Given the description of an element on the screen output the (x, y) to click on. 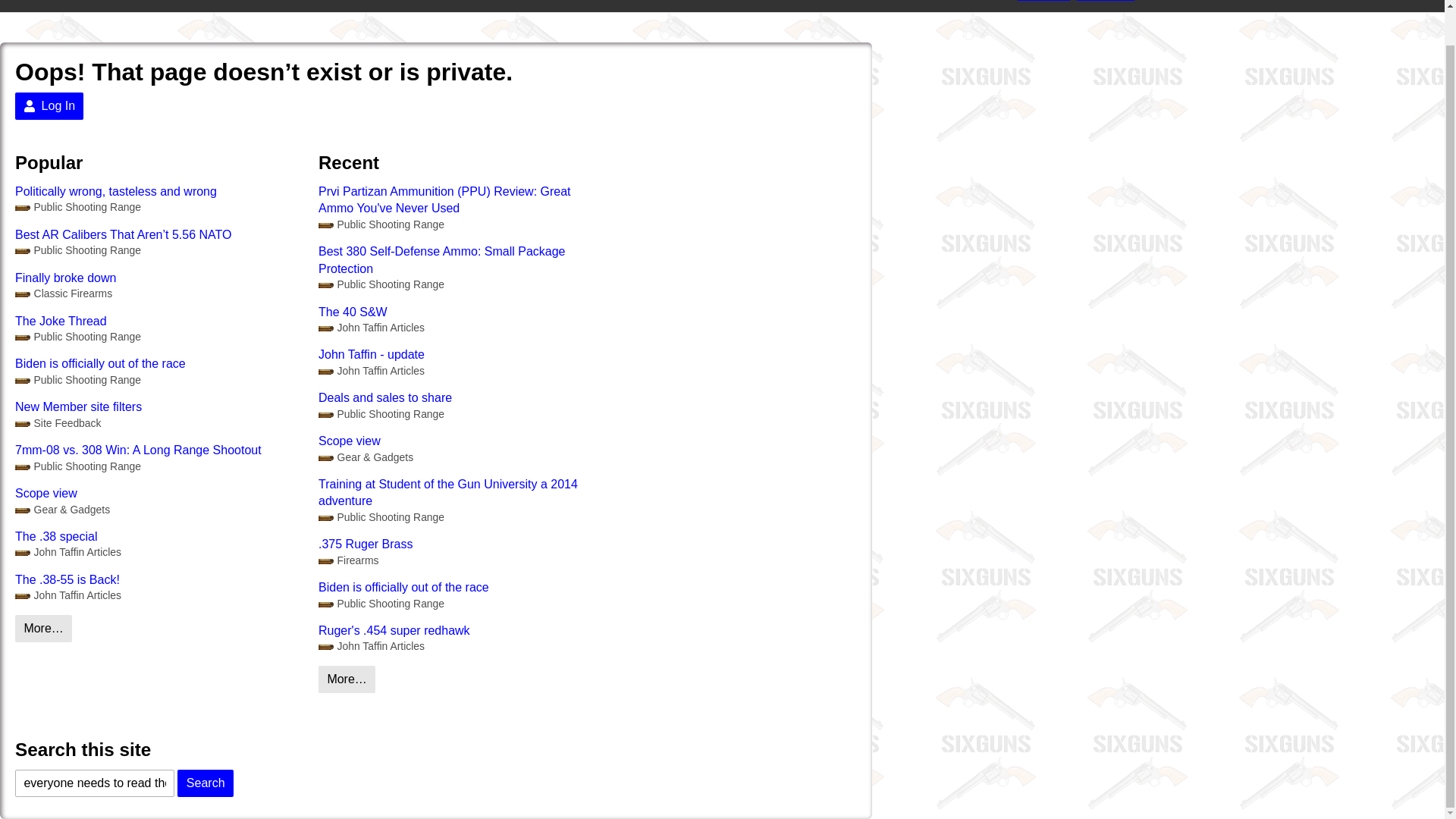
Public Shooting Range (77, 380)
The Joke Thread (158, 321)
The .38 special (158, 536)
John Taffin Articles (371, 370)
General Discussion Area (77, 206)
Public Shooting Range (381, 224)
Sign Up (1043, 0)
Public Shooting Range (77, 250)
Share your success stories here, or, the not so successful (365, 457)
John Taffin Articles (67, 595)
.375 Ruger Brass (462, 544)
General Discussion Area (77, 380)
Site Feedback (57, 423)
General Discussion Area (77, 466)
Log In (1105, 0)
